Given the description of an element on the screen output the (x, y) to click on. 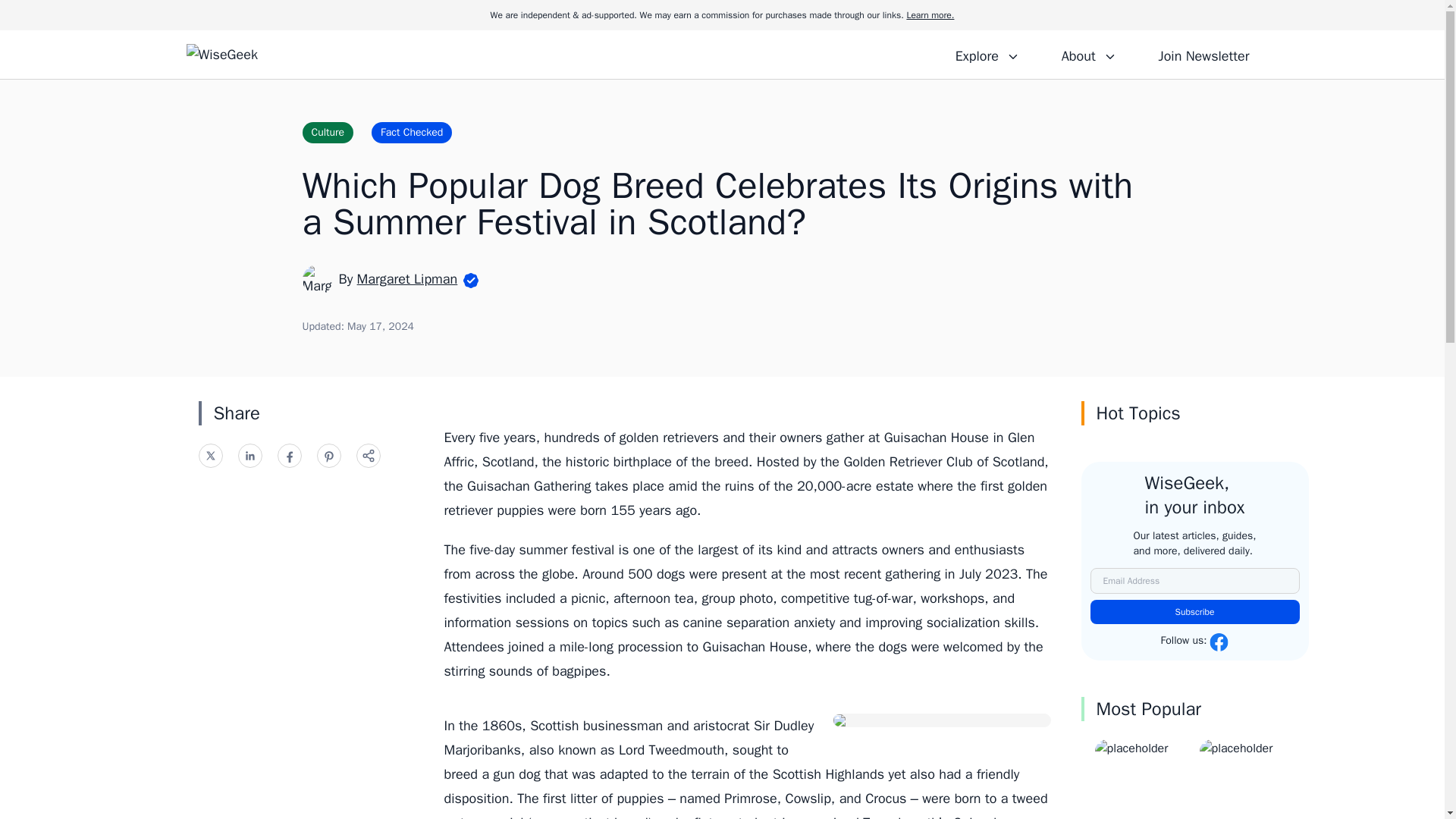
Join Newsletter (1202, 54)
About (1088, 54)
Follow us: (1194, 642)
Culture (327, 132)
Explore (986, 54)
Learn more. (929, 15)
Margaret Lipman (407, 279)
Subscribe (1195, 611)
Fact Checked (411, 132)
